Given the description of an element on the screen output the (x, y) to click on. 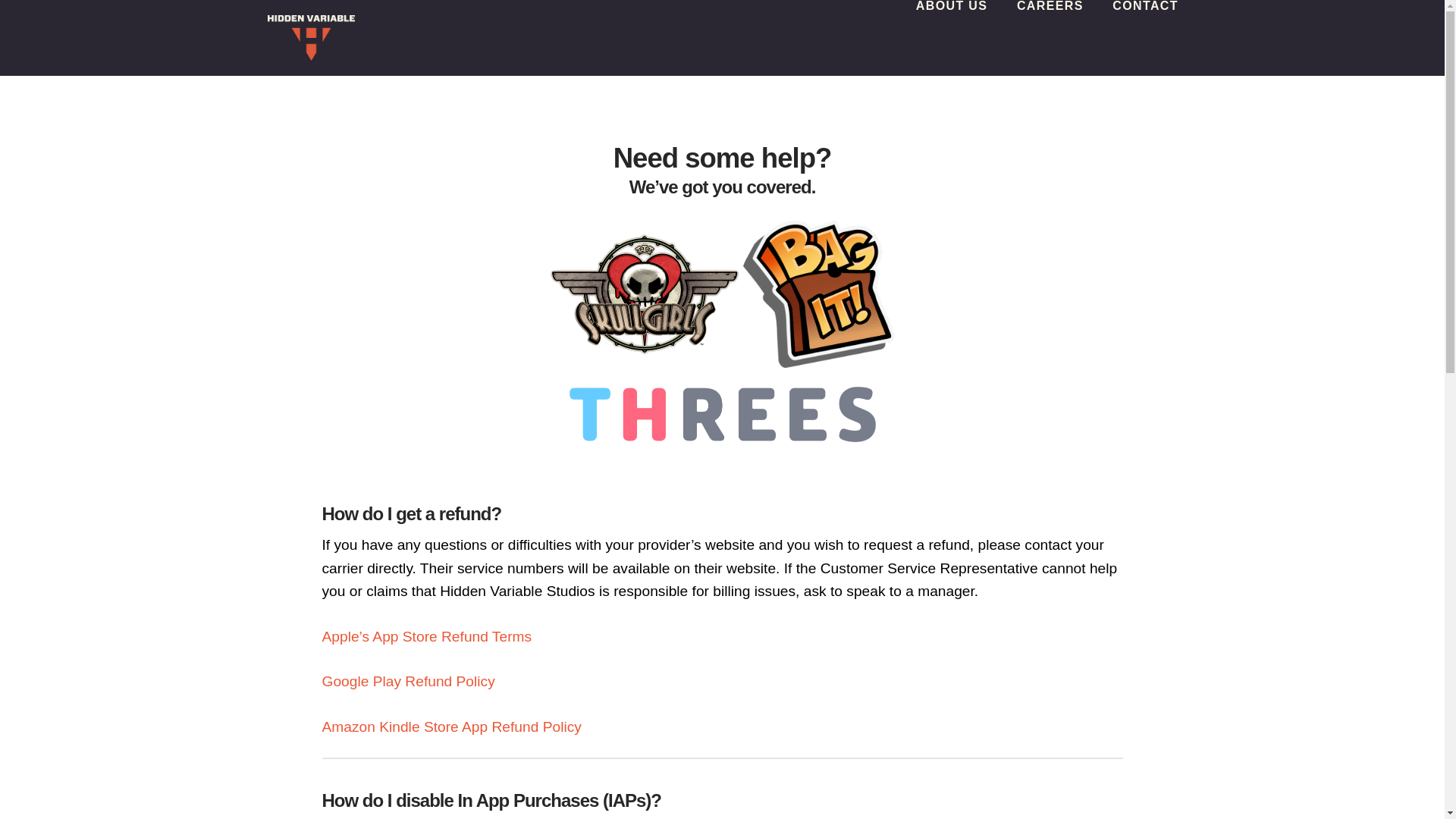
CONTACT (1136, 38)
Amazon Kindle Store App Refund Policy (450, 726)
Google Play Refund Policy (408, 681)
CAREERS (1049, 38)
ABOUT US (951, 38)
